Given the description of an element on the screen output the (x, y) to click on. 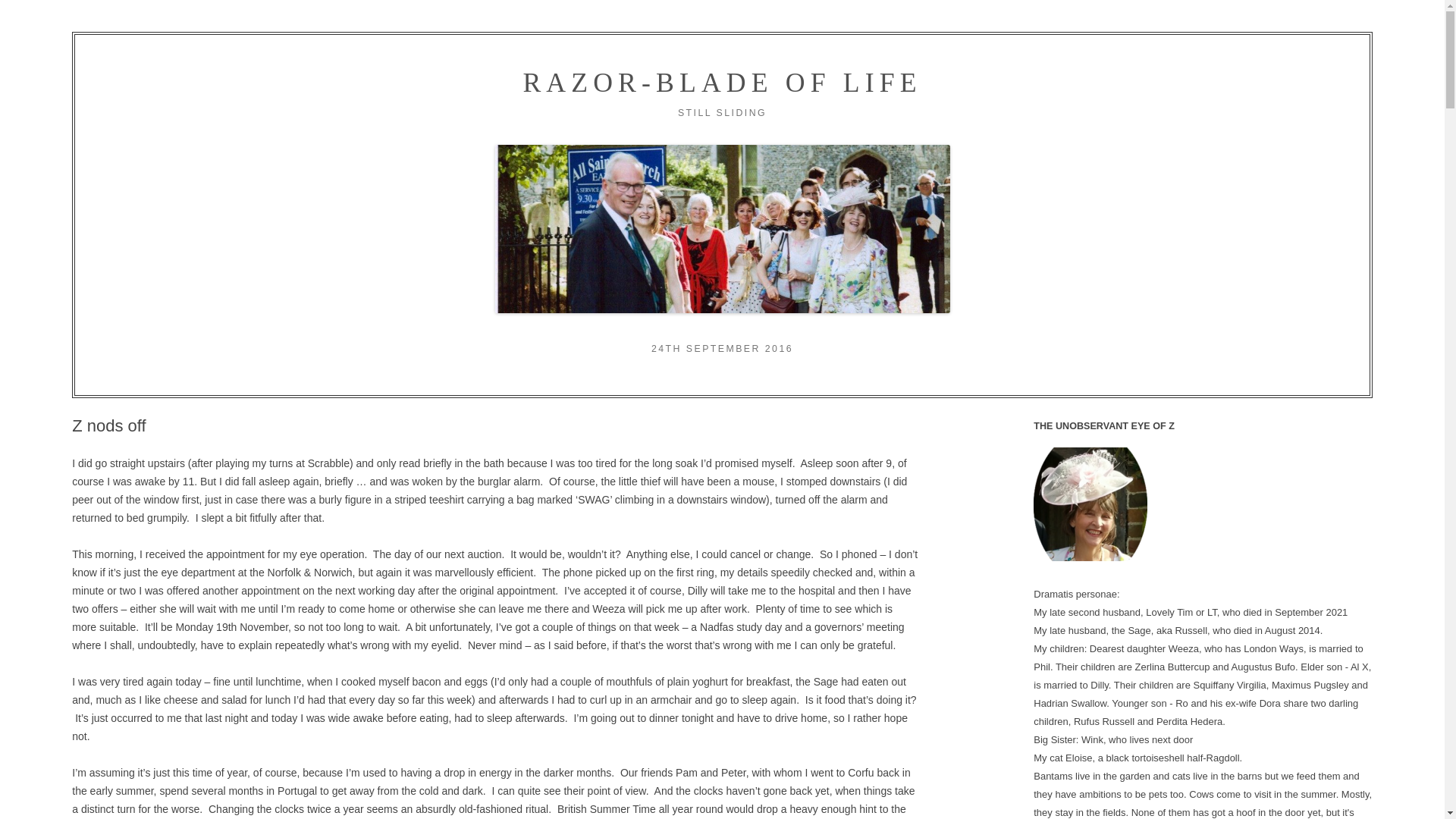
SKIP TO CONTENT (769, 132)
Razor-blade of Life (721, 82)
RAZOR-BLADE OF LIFE (721, 82)
Skip to content (769, 132)
